Given the description of an element on the screen output the (x, y) to click on. 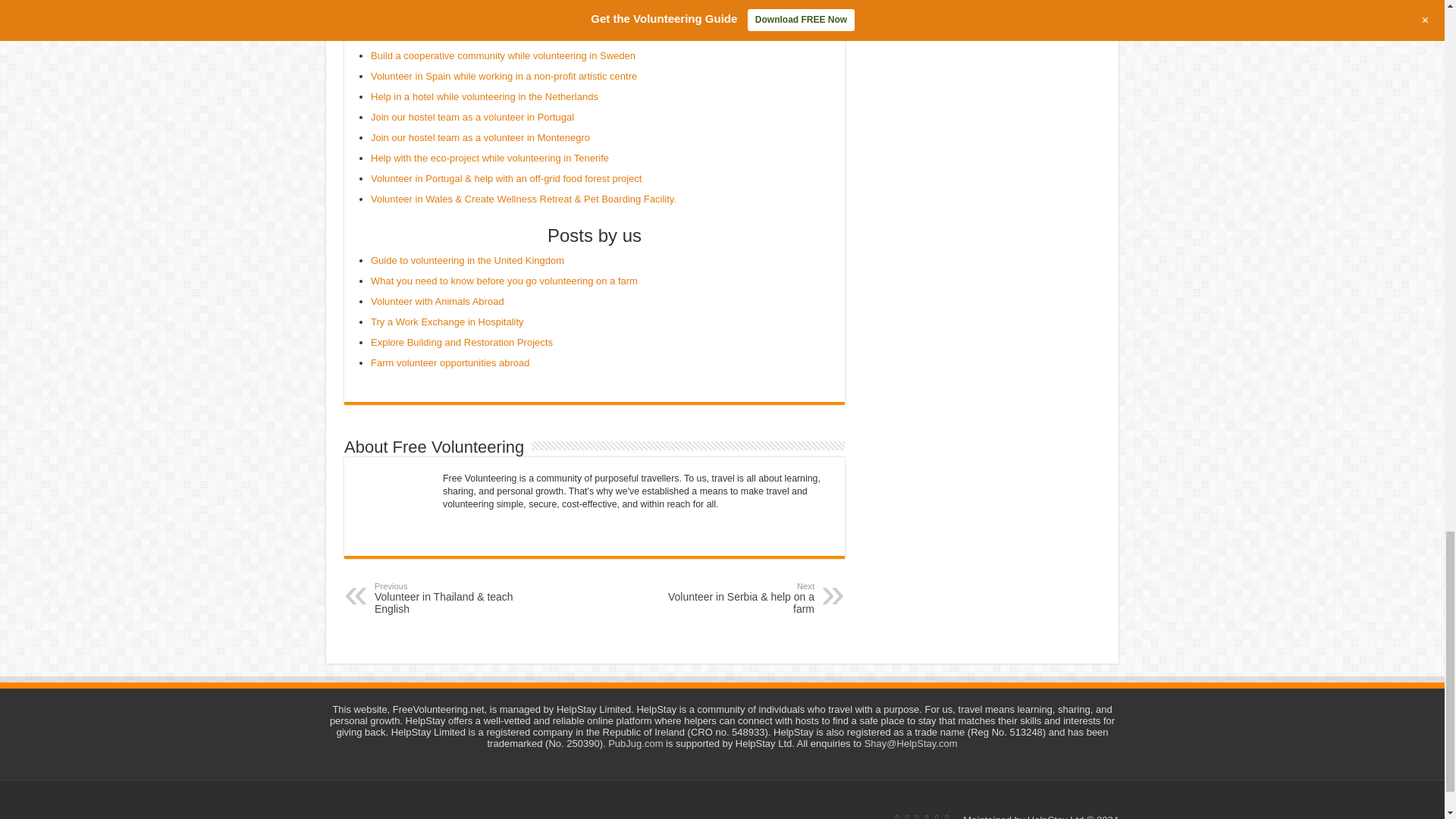
HelpStay Ltd (1055, 816)
